Given the description of an element on the screen output the (x, y) to click on. 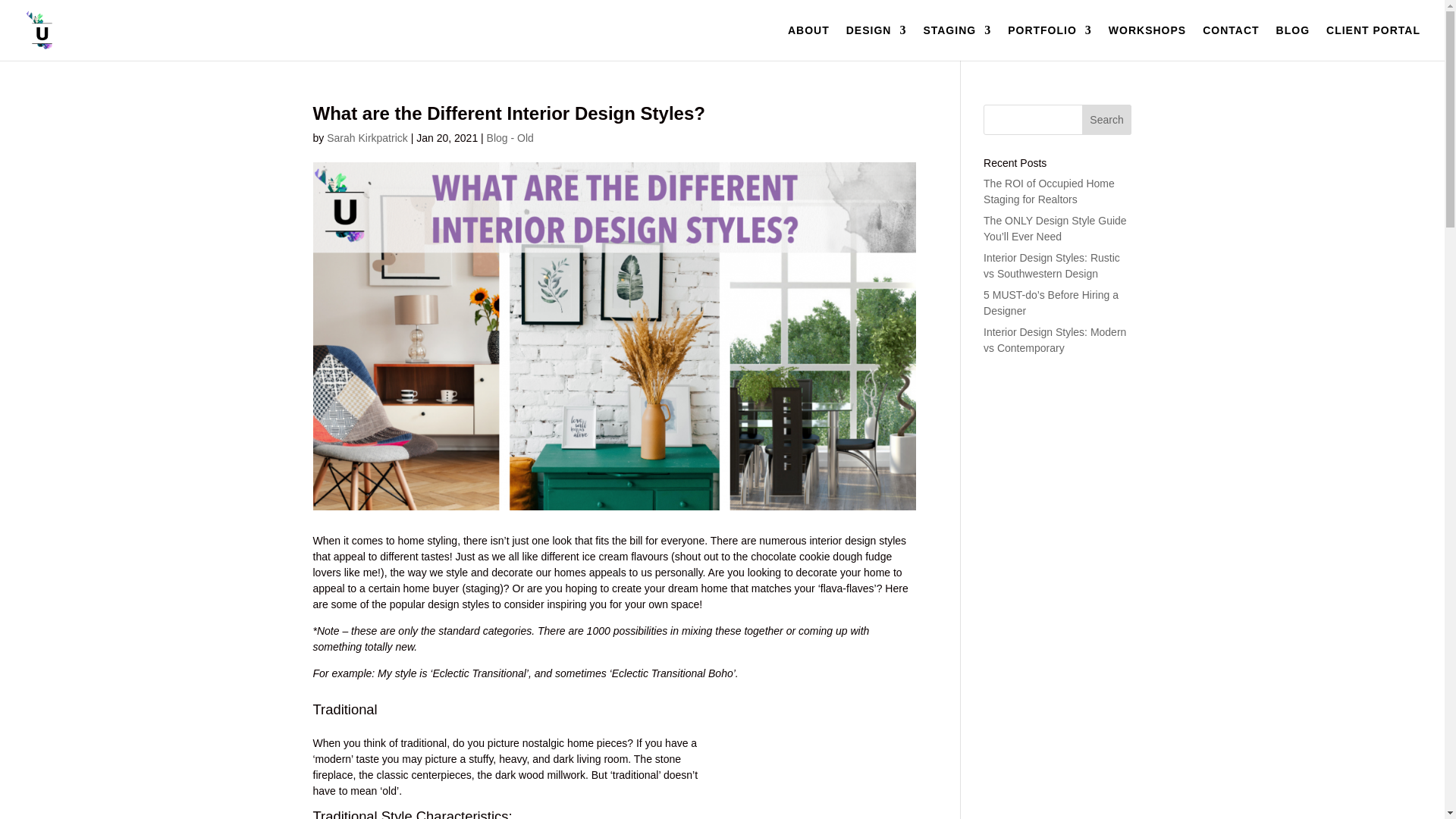
The ROI of Occupied Home Staging for Realtors (1049, 191)
STAGING (957, 42)
PORTFOLIO (1049, 42)
Interior Design Styles: Modern vs Contemporary (1054, 339)
Search (1106, 119)
Interior Design Styles: Rustic vs Southwestern Design (1051, 265)
Posts by Sarah Kirkpatrick (366, 137)
WORKSHOPS (1147, 42)
CONTACT (1230, 42)
Sarah Kirkpatrick (366, 137)
